Given the description of an element on the screen output the (x, y) to click on. 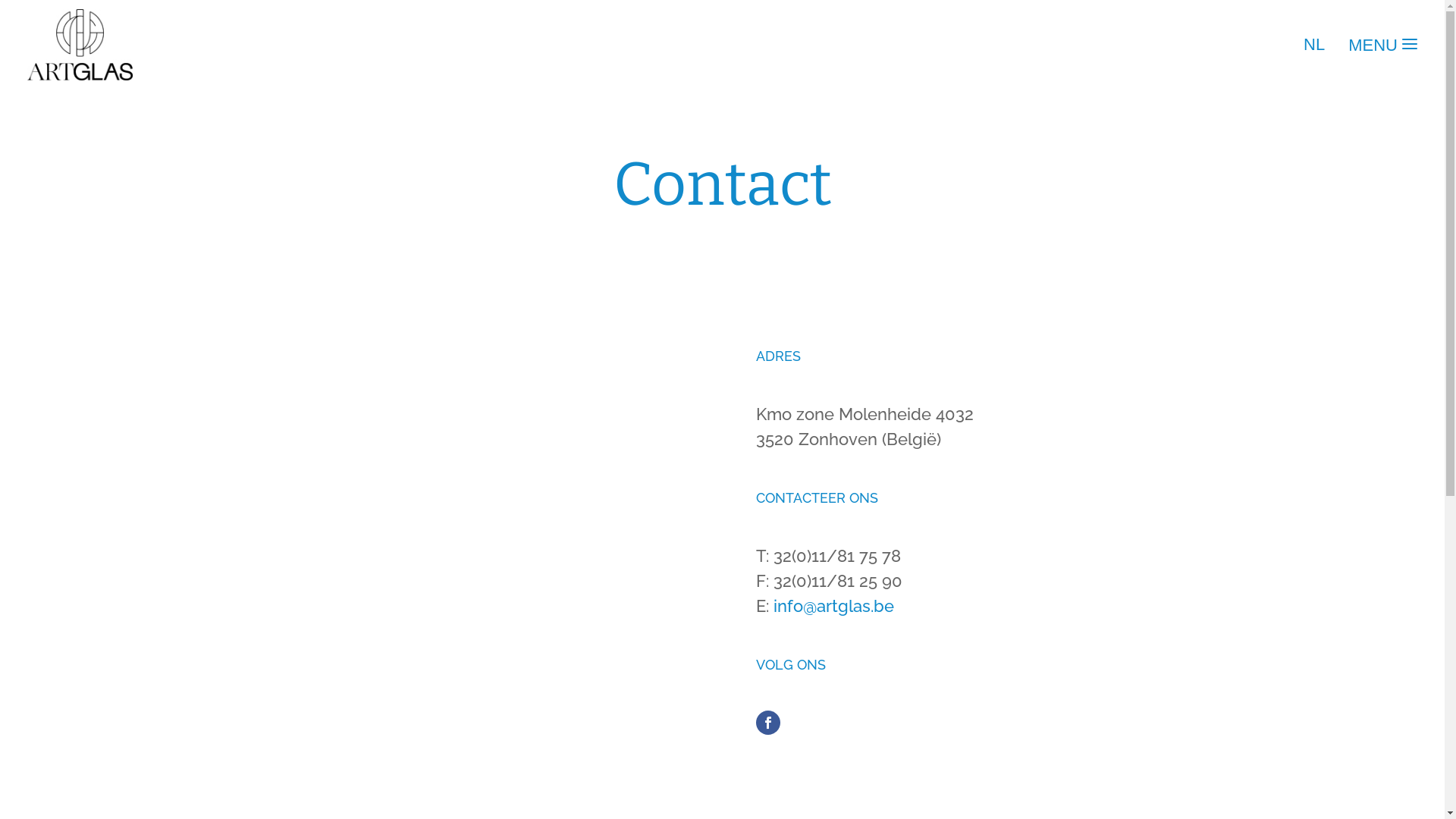
info@artglas.be Element type: text (833, 605)
facebook Element type: hover (767, 722)
NL Element type: text (1311, 44)
